Given the description of an element on the screen output the (x, y) to click on. 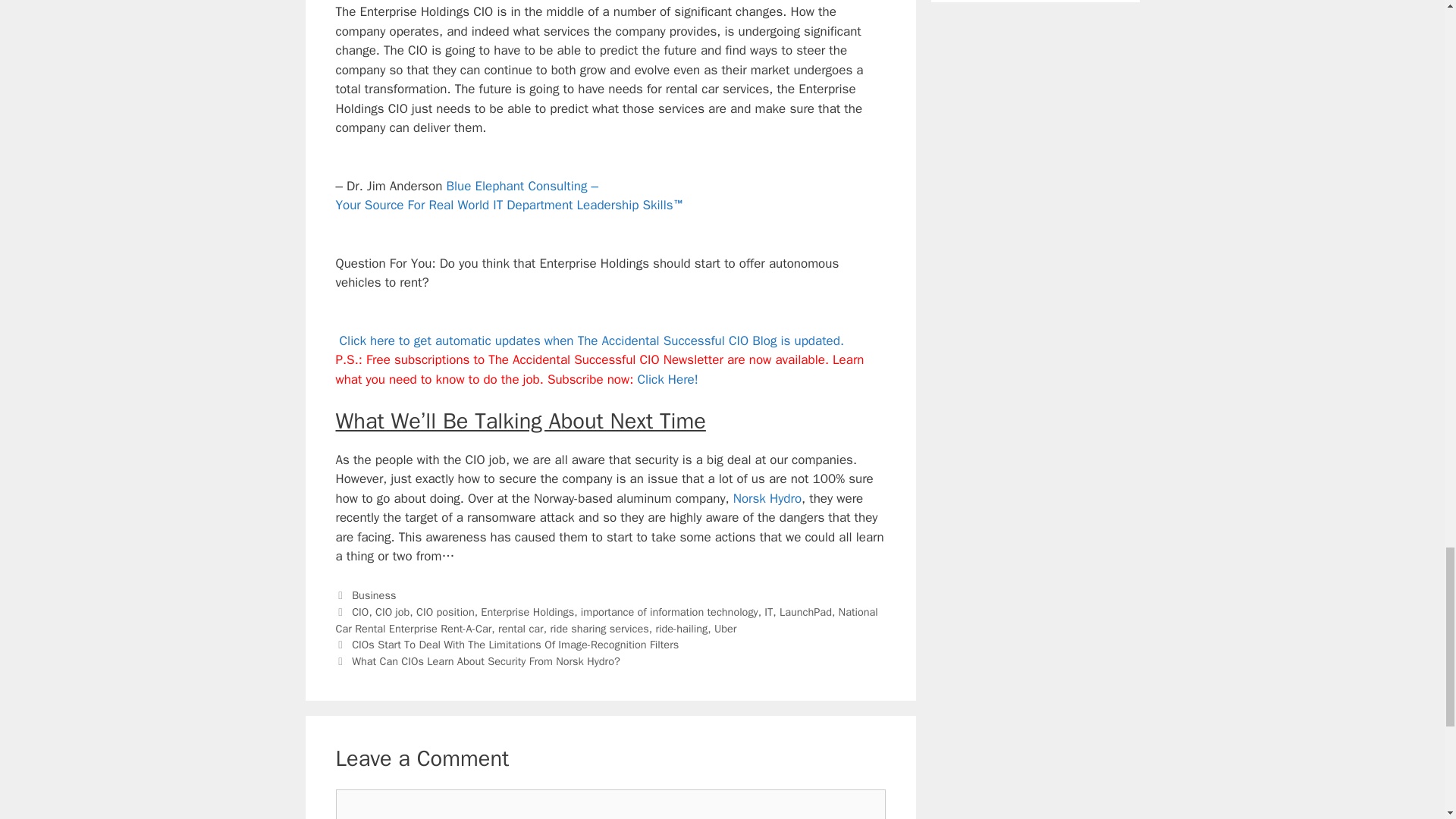
ride sharing services (598, 628)
What Can CIOs Learn About Security From Norsk Hydro? (486, 661)
CIO job (392, 612)
rental car (520, 628)
Who is Norsk Hydro? (767, 498)
importance of information technology (669, 612)
Subscribe to my feed (589, 340)
Enterprise Holdings (526, 612)
Click Here! (667, 379)
LaunchPad (804, 612)
Norsk Hydro (767, 498)
CIO position (445, 612)
National Car Rental Enterprise Rent-A-Car (605, 620)
